Given the description of an element on the screen output the (x, y) to click on. 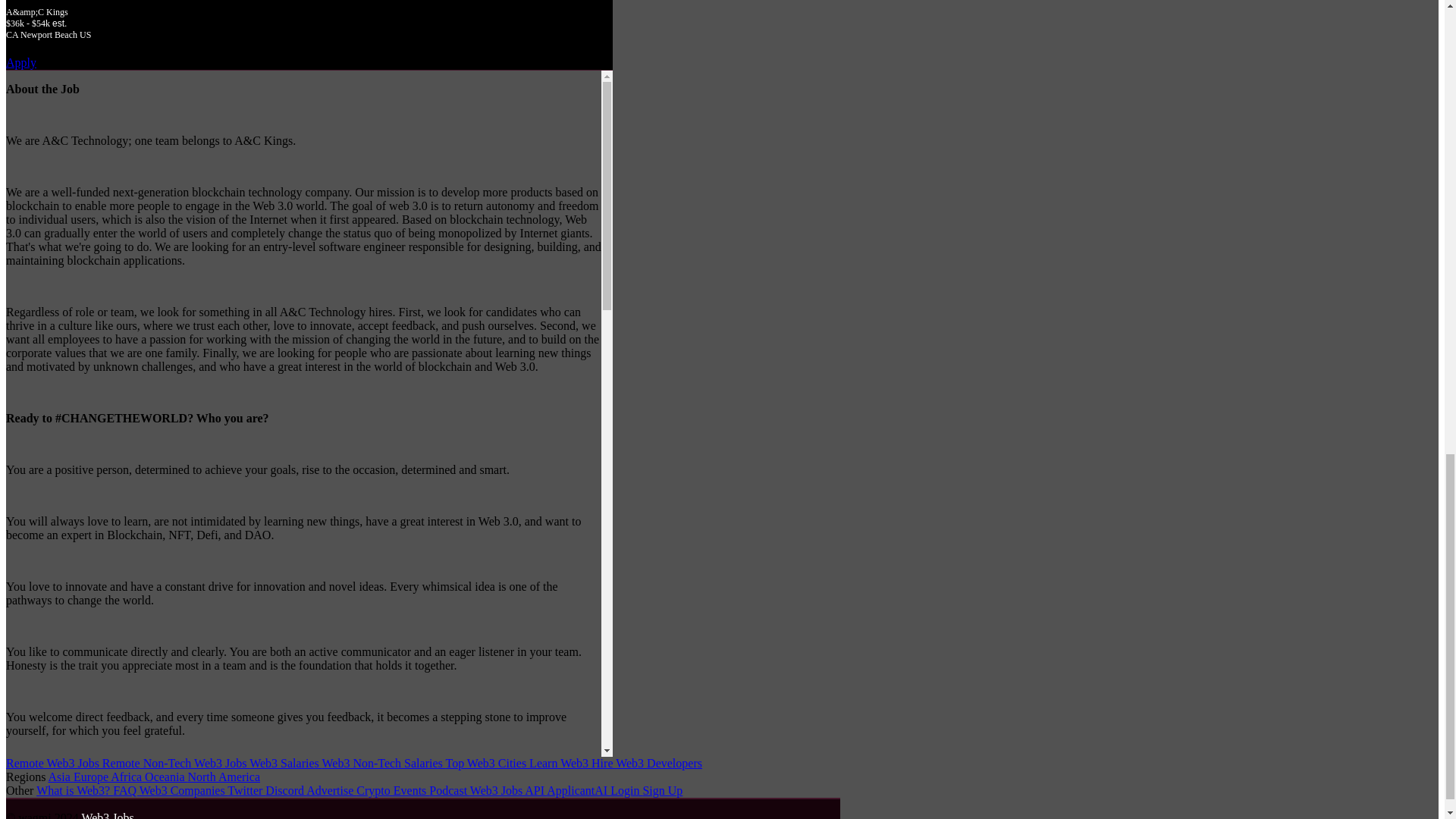
Estimated compensation based on similar jobs (308, 23)
